Given the description of an element on the screen output the (x, y) to click on. 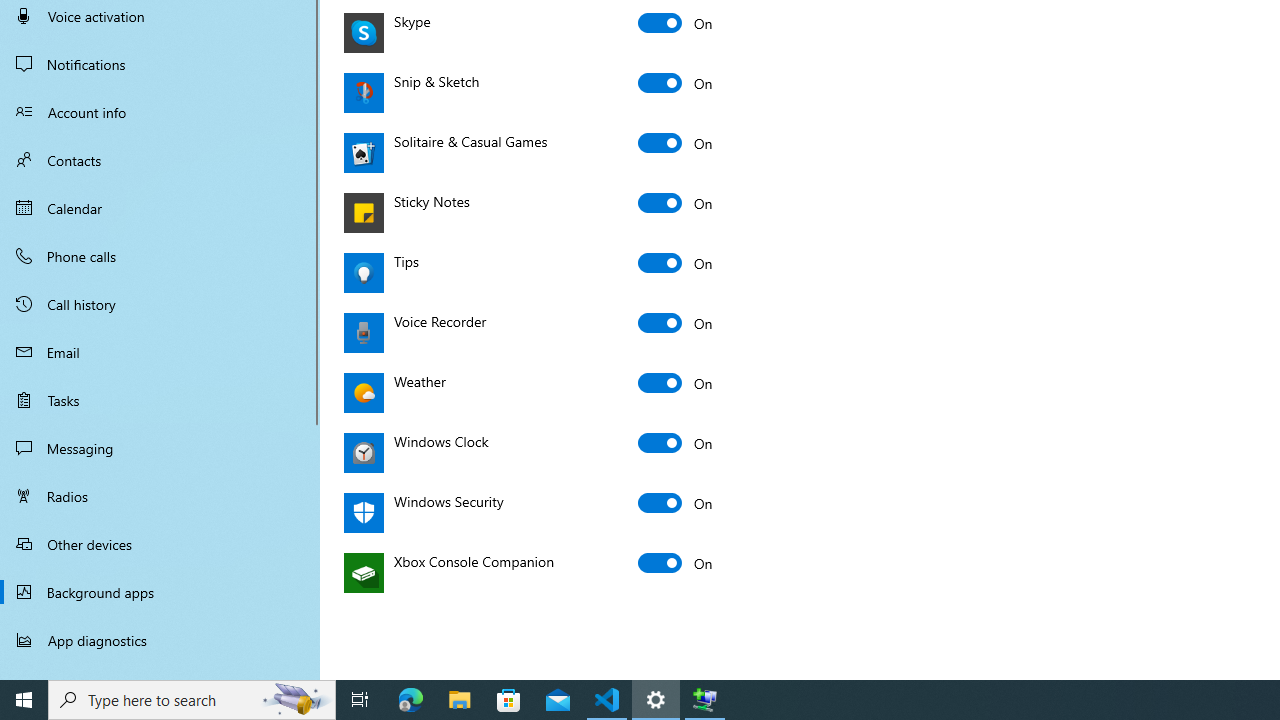
Radios (160, 495)
Extensible Wizards Host Process - 1 running window (704, 699)
Call history (160, 304)
Calendar (160, 207)
Sticky Notes (675, 202)
Start (24, 699)
Account info (160, 111)
Task View (359, 699)
Settings - 1 running window (656, 699)
Xbox Console Companion (675, 562)
Microsoft Edge (411, 699)
Tasks (160, 399)
Background apps (160, 592)
Notifications (160, 63)
